Given the description of an element on the screen output the (x, y) to click on. 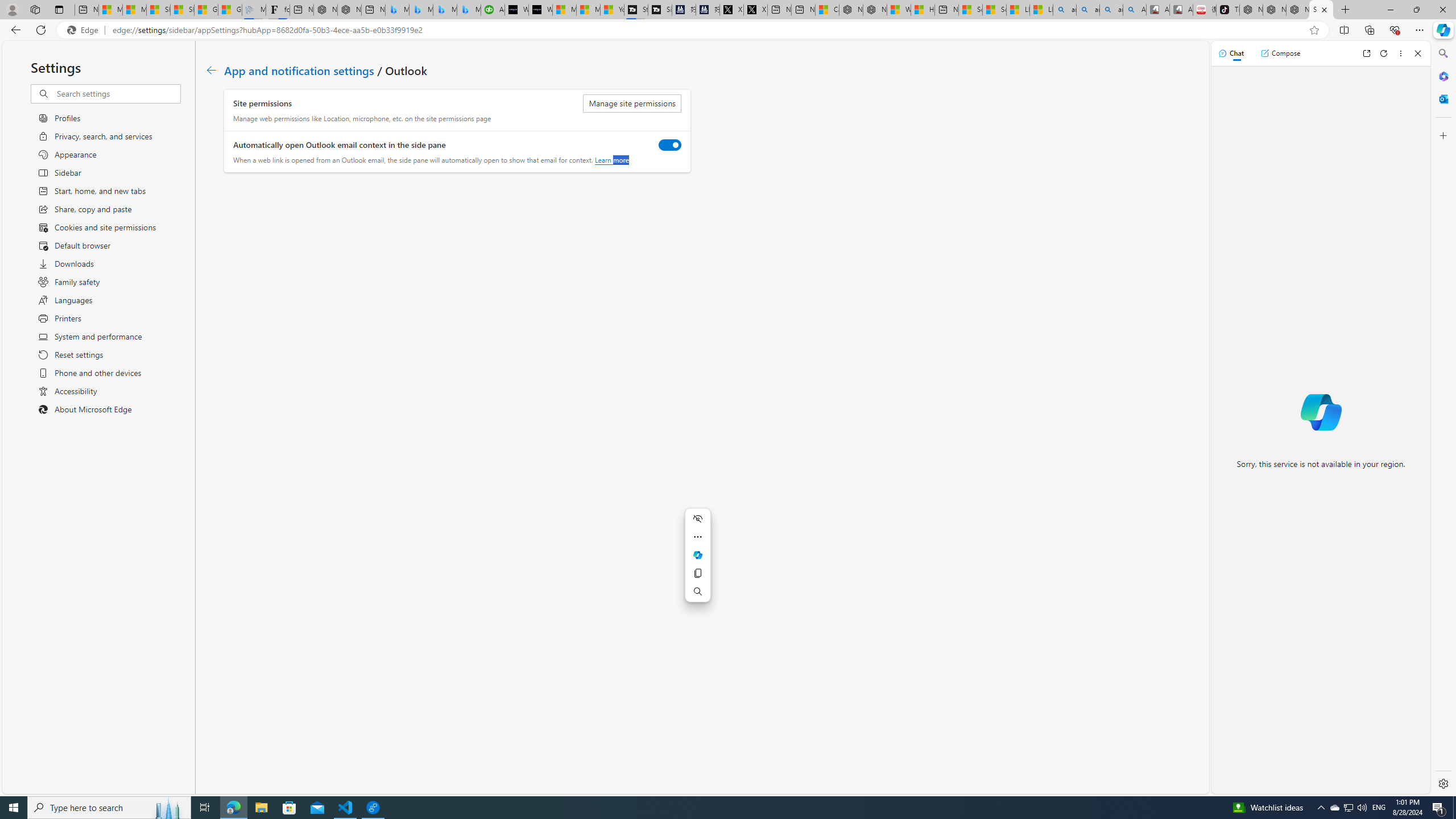
amazon - Search Images (1111, 9)
Learn more (611, 159)
Chat (1231, 52)
